Given the description of an element on the screen output the (x, y) to click on. 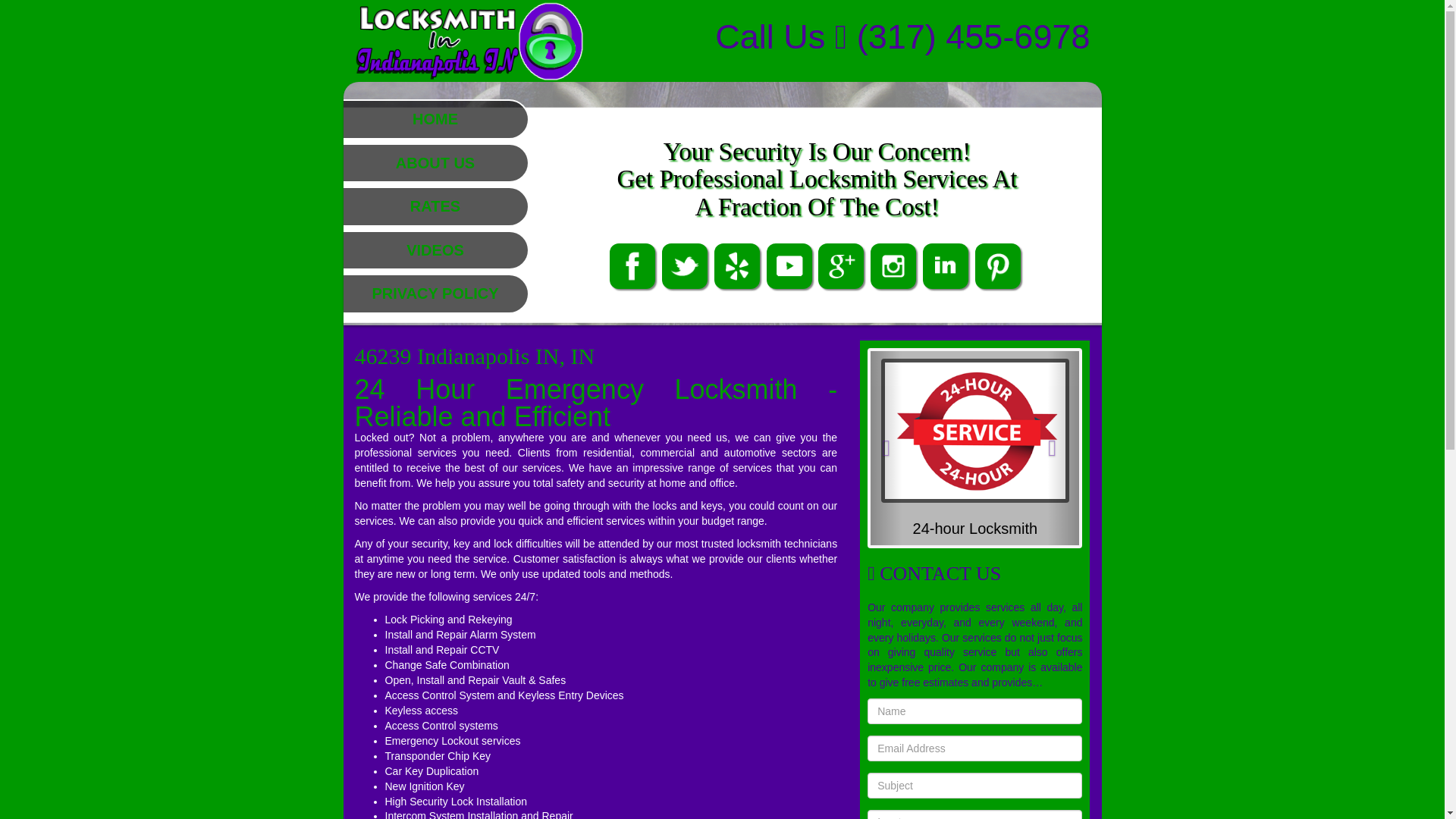
VIDEOS (435, 249)
RATES (435, 206)
24-hour Locksmith (975, 528)
Yelp (738, 264)
Facebook (634, 264)
ABOUT US (435, 162)
PRIVACY POLICY (434, 293)
LinkedIn (947, 264)
Google Plus (842, 264)
Pinterest (1000, 264)
